Given the description of an element on the screen output the (x, y) to click on. 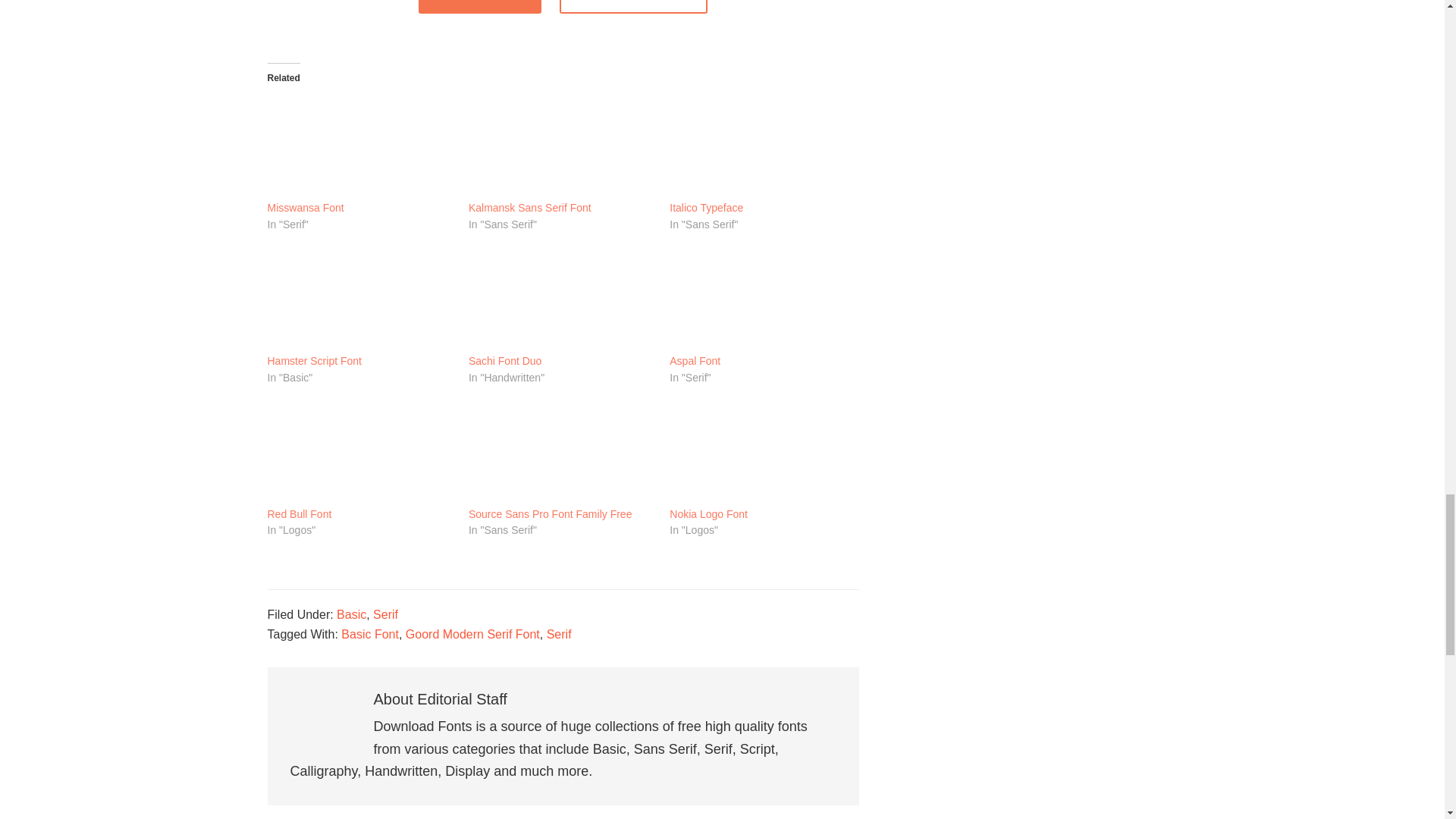
Source Sans Pro Font Family Free (560, 451)
Misswansa Font (359, 146)
Basic (351, 614)
Sachi Font Duo (504, 361)
Misswansa Font (304, 208)
Red Bull Font (298, 514)
Goord Modern Serif Font (473, 634)
Source Sans Pro Font Family Free (549, 514)
Basic Font (369, 634)
Nokia Logo Font (708, 514)
